Given the description of an element on the screen output the (x, y) to click on. 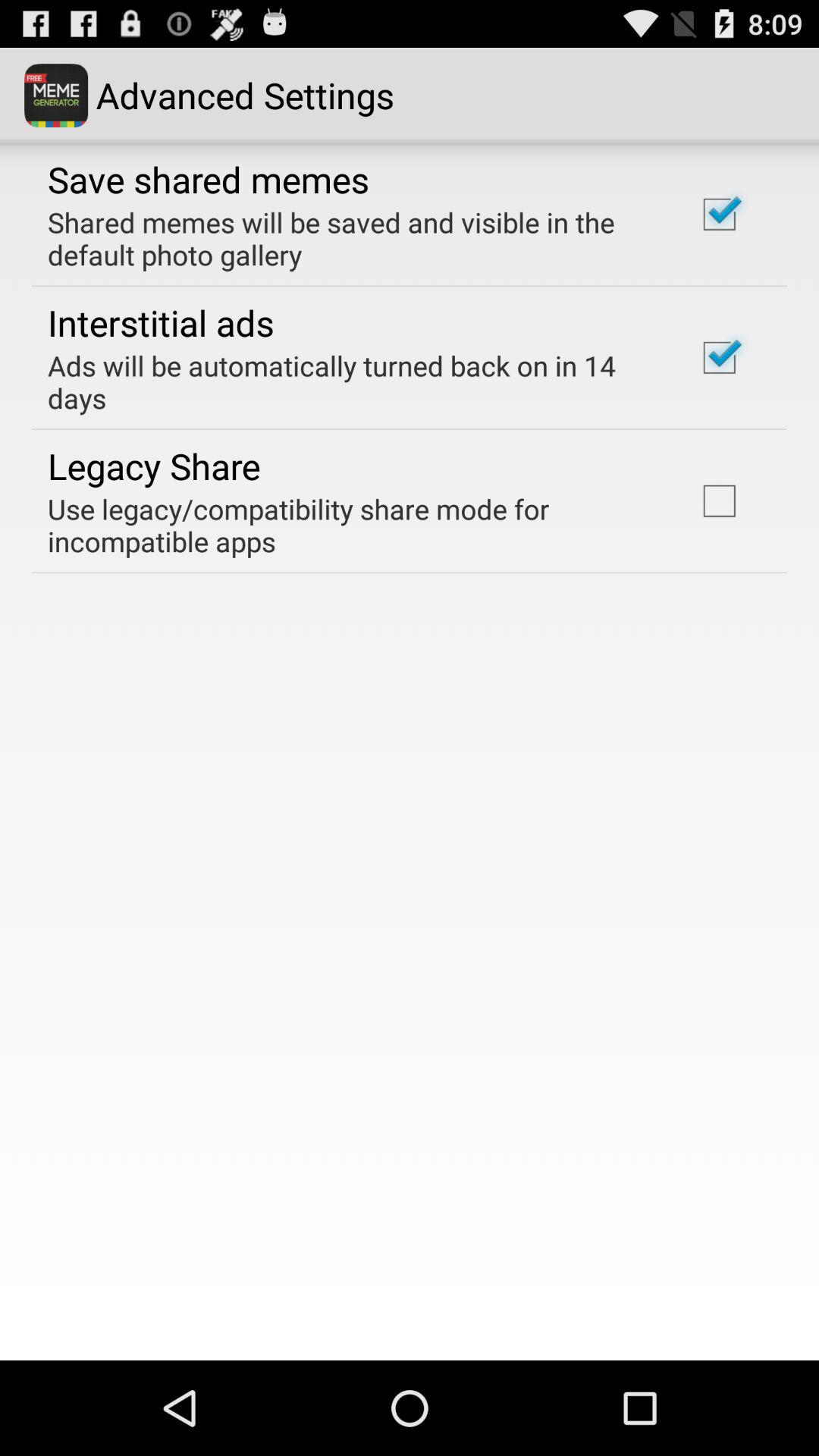
open the use legacy compatibility at the center (351, 525)
